Given the description of an element on the screen output the (x, y) to click on. 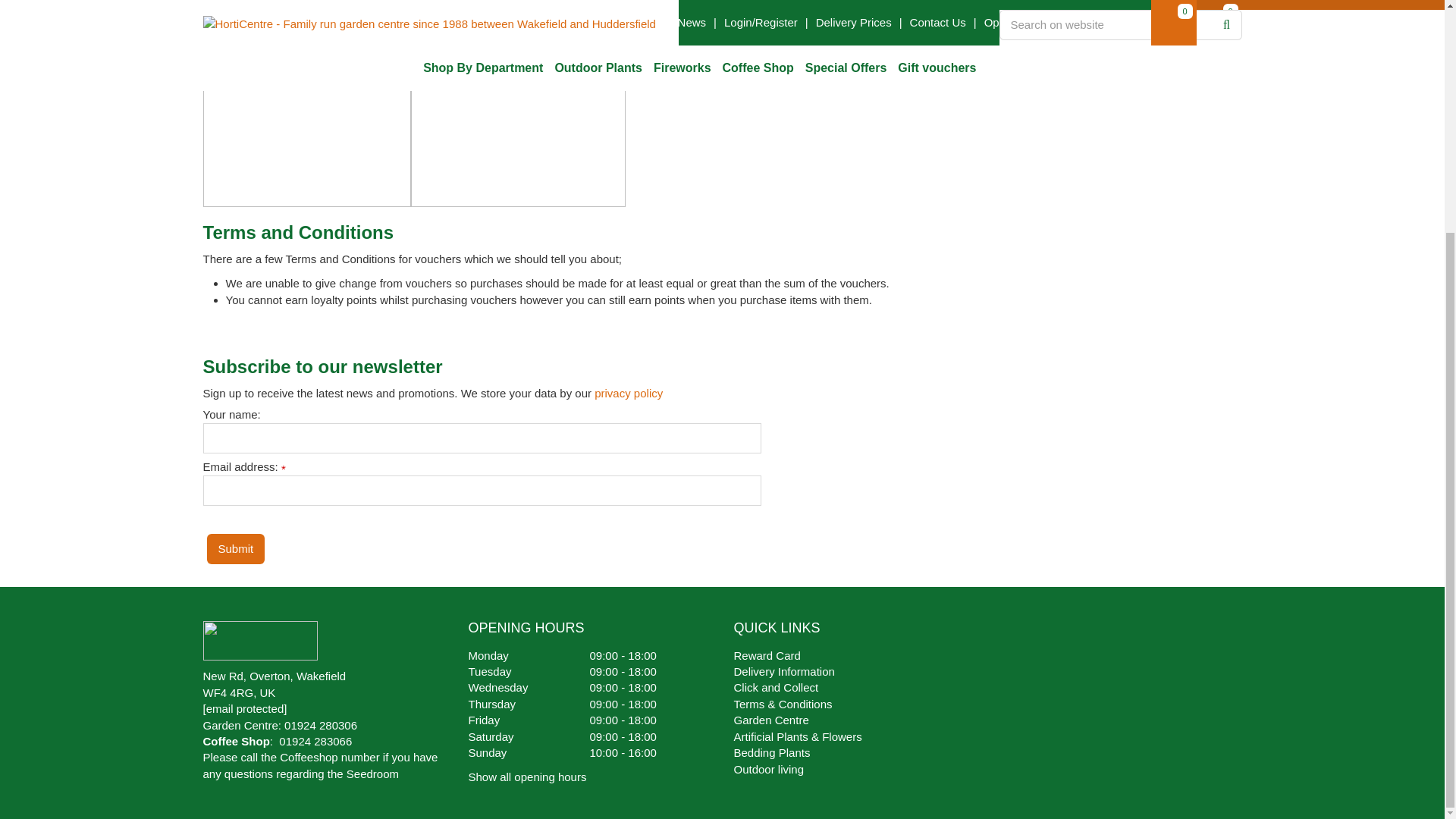
Submit (235, 548)
